Given the description of an element on the screen output the (x, y) to click on. 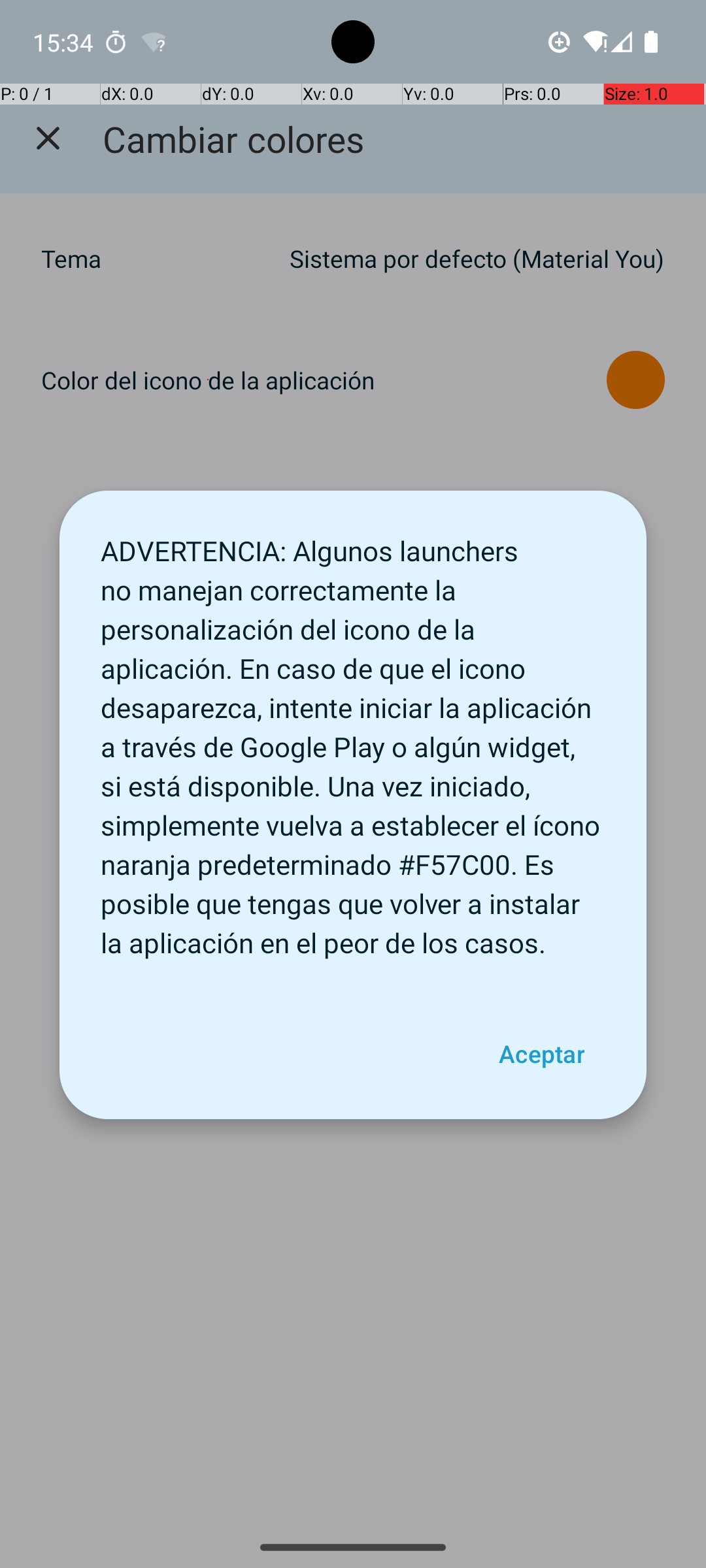
ADVERTENCIA: Algunos launchers no manejan correctamente la personalización del icono de la aplicación. En caso de que el icono desaparezca, intente iniciar la aplicación a través de Google Play o algún widget, si está disponible. Una vez iniciado, simplemente vuelva a establecer el ícono naranja predeterminado #F57C00. Es posible que tengas que volver a instalar la aplicación en el peor de los casos. Element type: android.widget.TextView (352, 739)
